Given the description of an element on the screen output the (x, y) to click on. 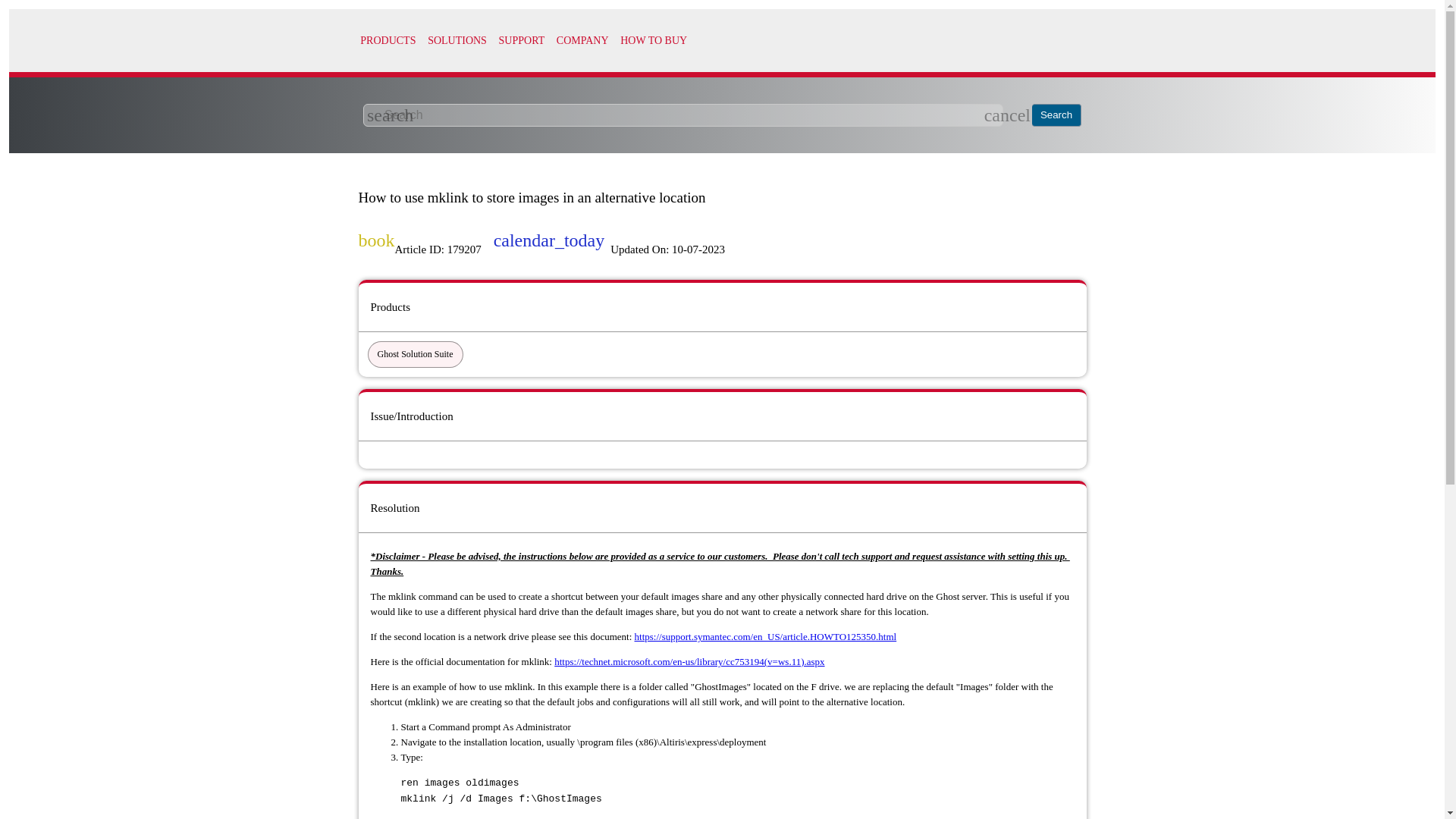
Search (1056, 115)
